Given the description of an element on the screen output the (x, y) to click on. 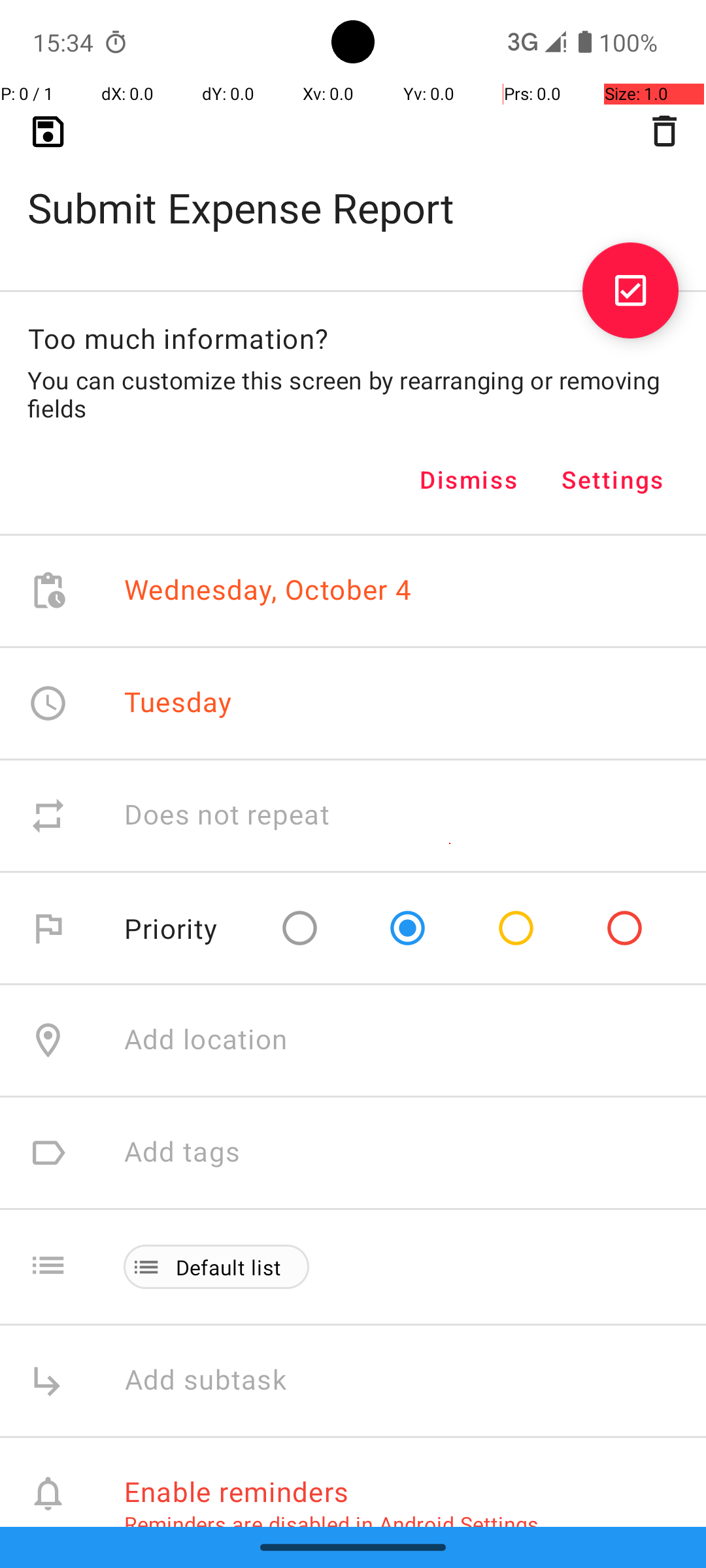
Submit Expense Report Element type: android.widget.EditText (353, 186)
Delete task Element type: android.widget.Button (664, 131)
Wednesday, October 4 Element type: android.widget.TextView (267, 590)
Add location Element type: android.widget.TextView (205, 1040)
Add tags Element type: android.widget.TextView (182, 1152)
Add subtask Element type: android.widget.TextView (219, 1380)
Enable reminders Element type: android.widget.TextView (236, 1490)
Reminders are disabled in Android Settings Element type: android.widget.TextView (331, 1523)
